Given the description of an element on the screen output the (x, y) to click on. 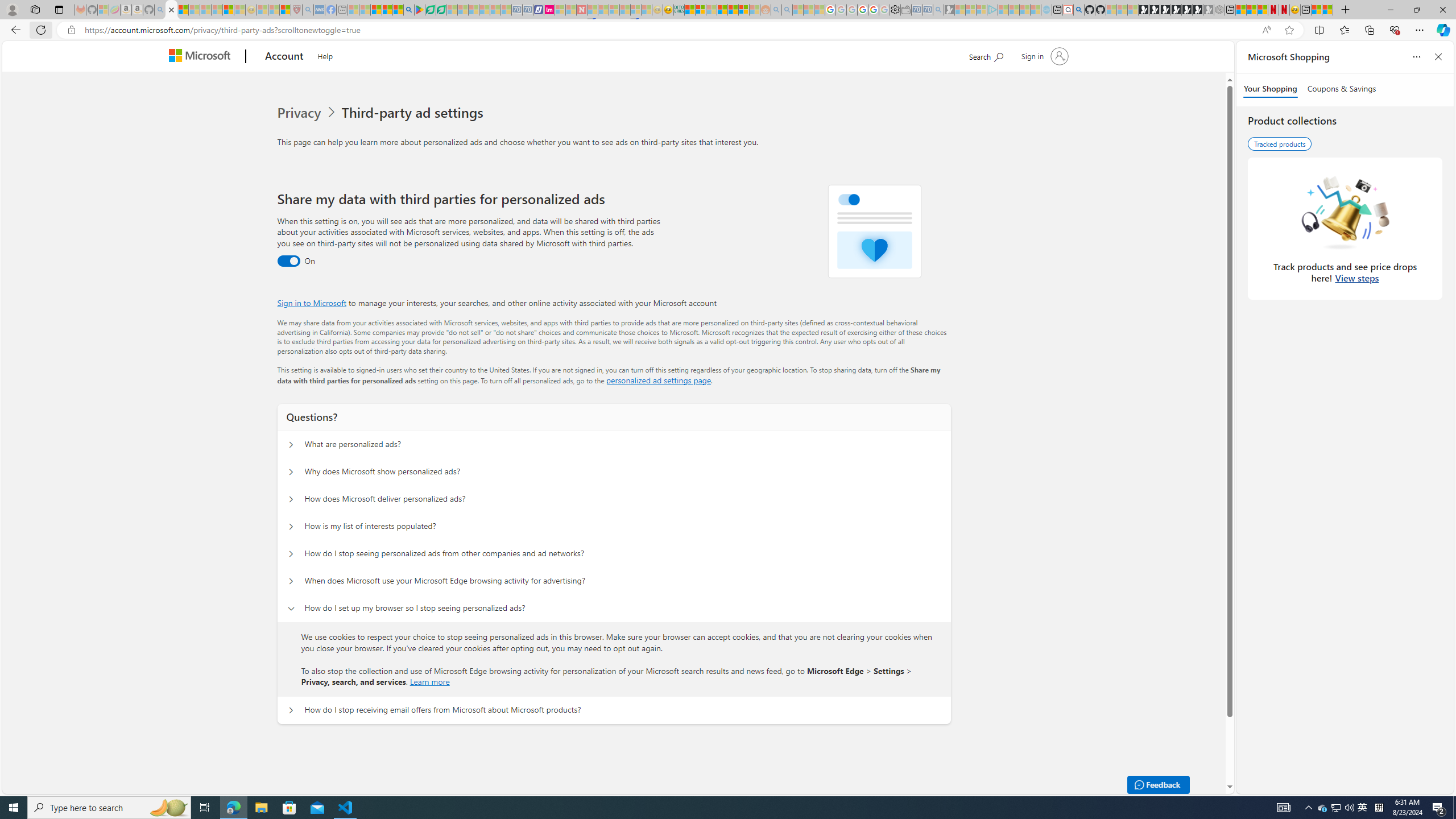
Sign in to your account (1043, 55)
personalized ad settings page (658, 379)
